Given the description of an element on the screen output the (x, y) to click on. 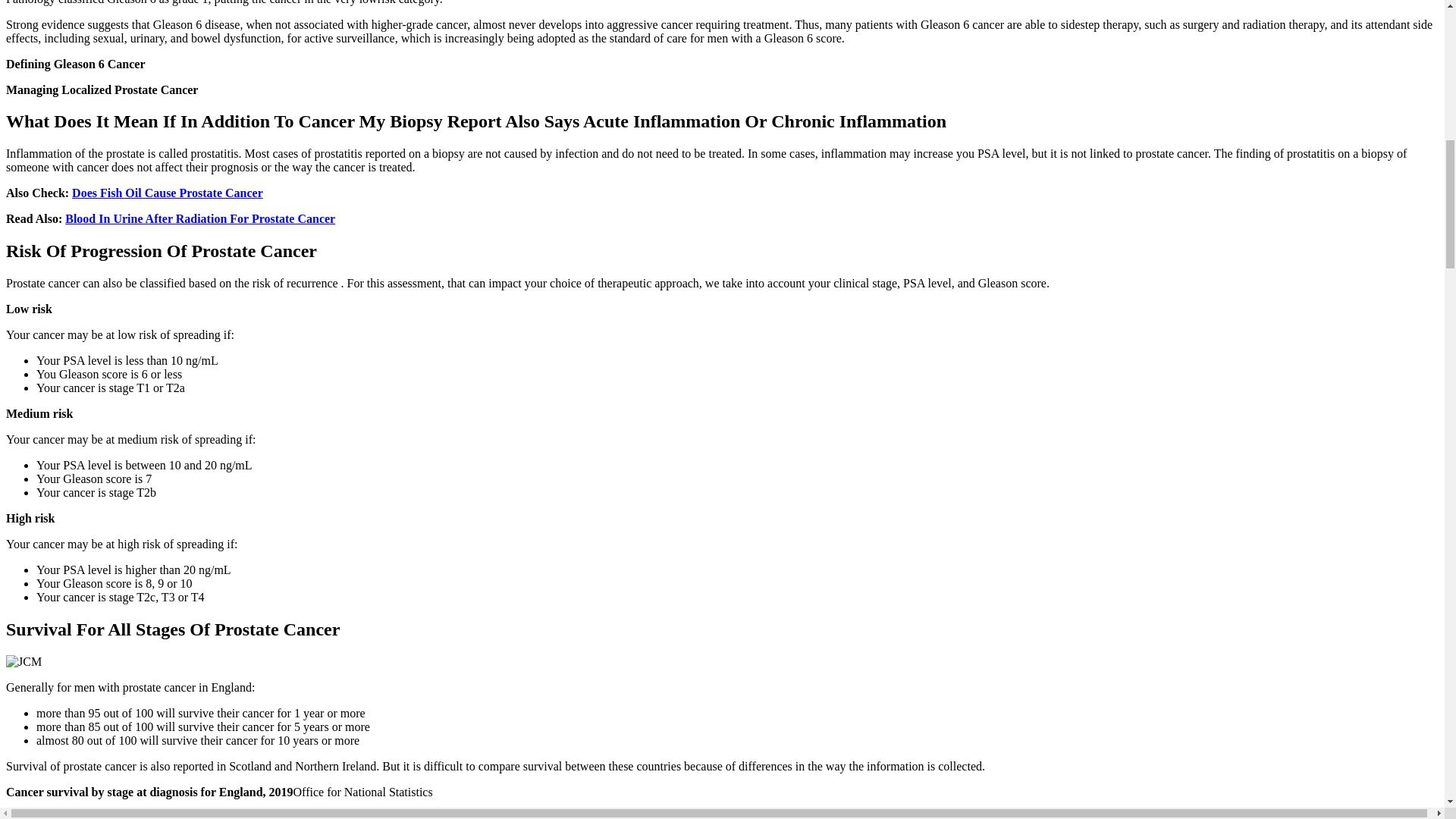
JCM (23, 662)
